Given the description of an element on the screen output the (x, y) to click on. 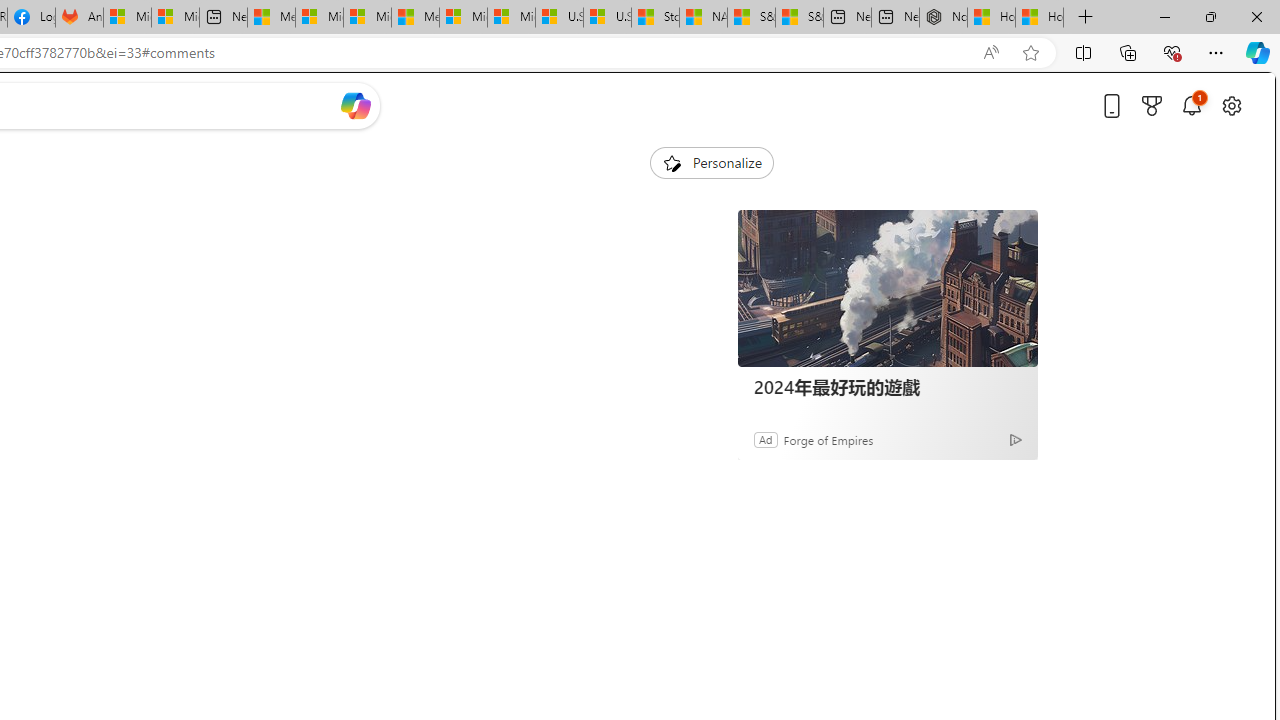
How to Use a Monitor With Your Closed Laptop (1039, 17)
Microsoft rewards (1151, 105)
Microsoft account | Home (367, 17)
S&P 500, Nasdaq end lower, weighed by Nvidia dip | Watch (799, 17)
To get missing image descriptions, open the context menu. (671, 162)
Open settings (1231, 105)
